Given the description of an element on the screen output the (x, y) to click on. 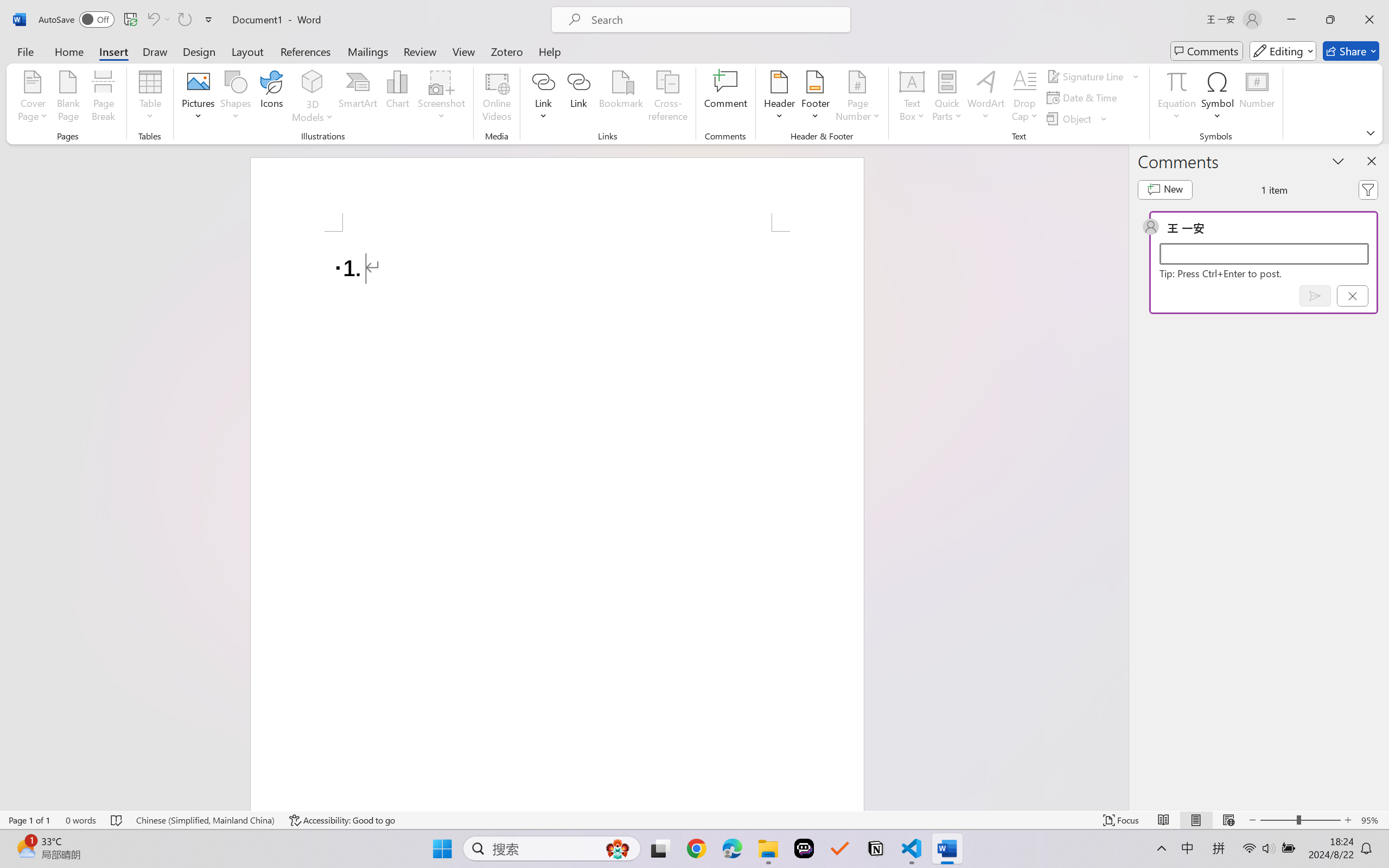
3D Models (312, 81)
Drop Cap (1024, 97)
Cover Page (33, 97)
Symbol (1218, 97)
Repeat Doc Close (184, 19)
Text Box (912, 97)
3D Models (312, 97)
Equation (1176, 81)
Post comment (Ctrl + Enter) (1315, 295)
Online Videos... (496, 97)
